Given the description of an element on the screen output the (x, y) to click on. 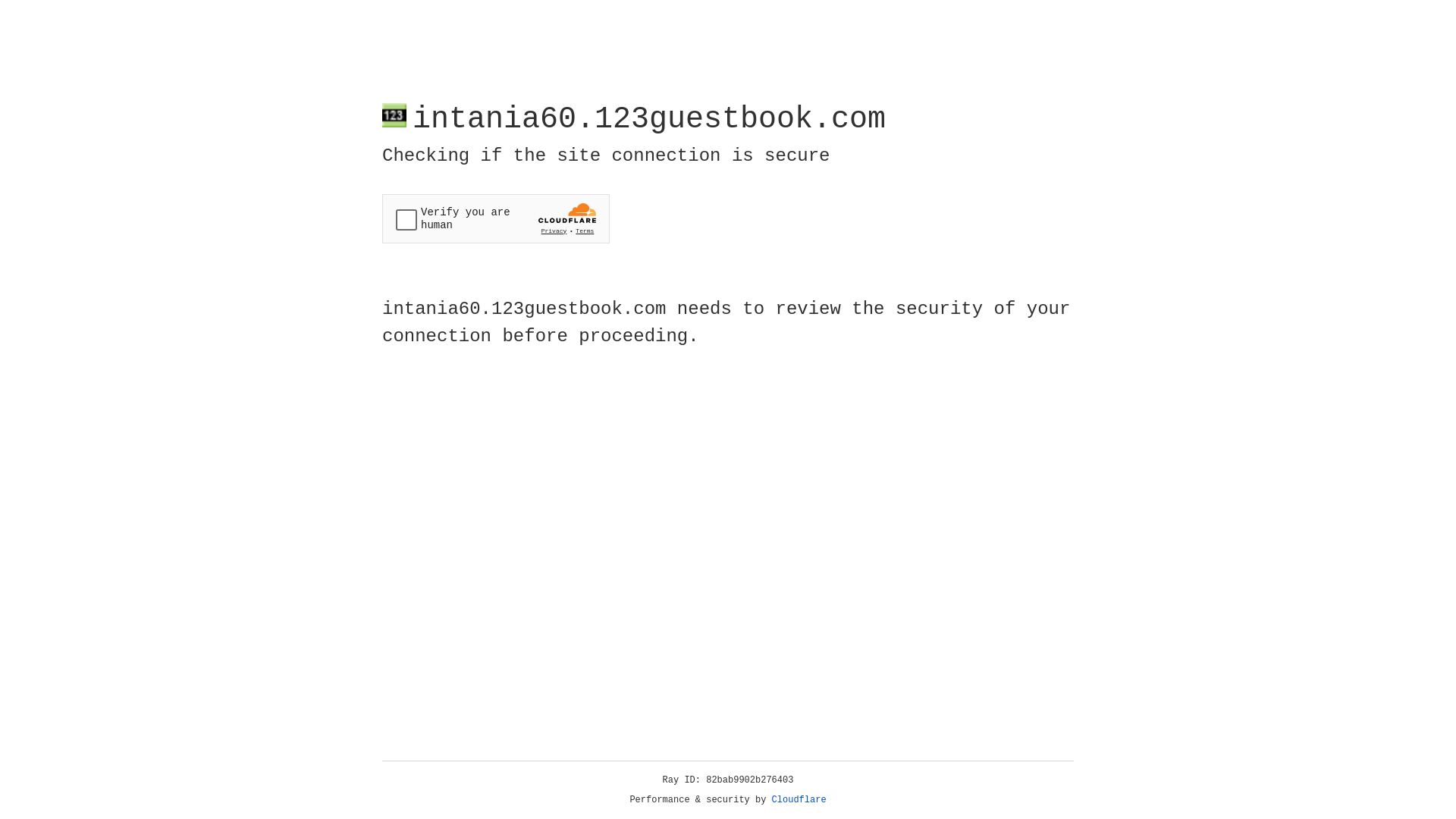
Widget containing a Cloudflare security challenge Element type: hover (495, 218)
Cloudflare Element type: text (798, 799)
